Given the description of an element on the screen output the (x, y) to click on. 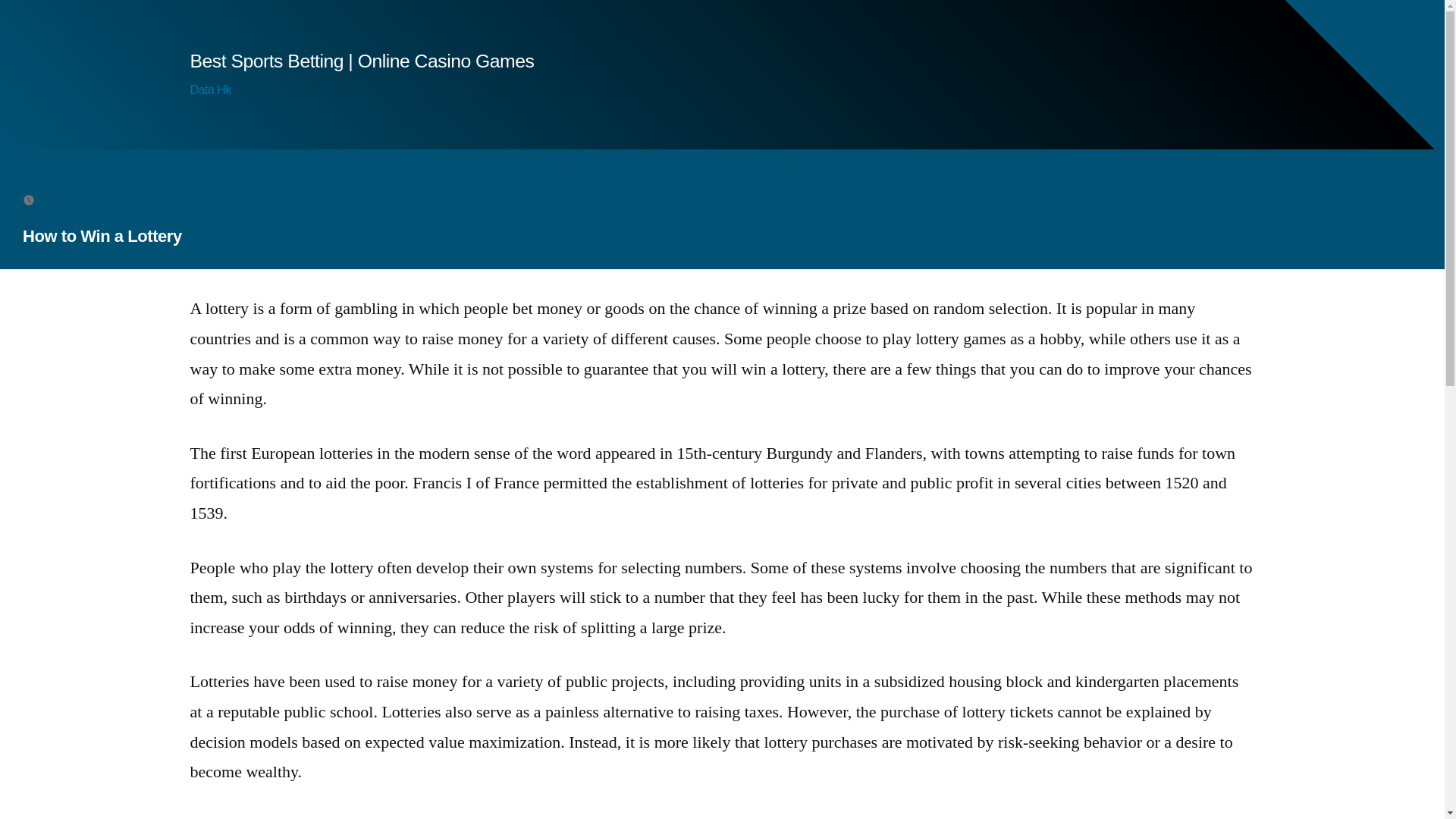
May 19, 2023 (76, 198)
Data Hk (209, 89)
